Given the description of an element on the screen output the (x, y) to click on. 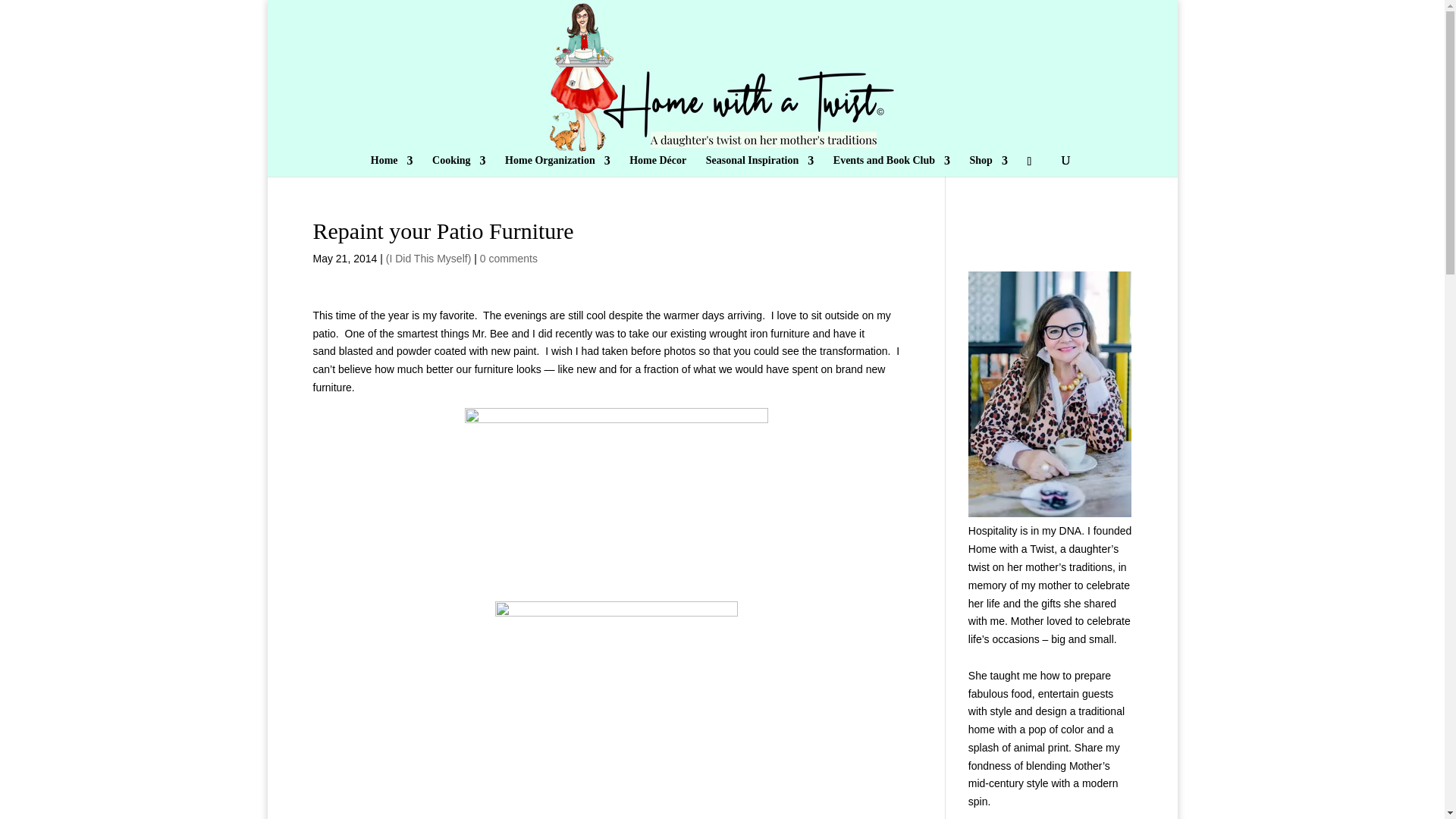
Cooking (459, 165)
Seasonal Inspiration (759, 165)
0 comments (508, 258)
Shop (988, 165)
Home (392, 165)
Home Organization (557, 165)
Events and Book Club (891, 165)
